Given the description of an element on the screen output the (x, y) to click on. 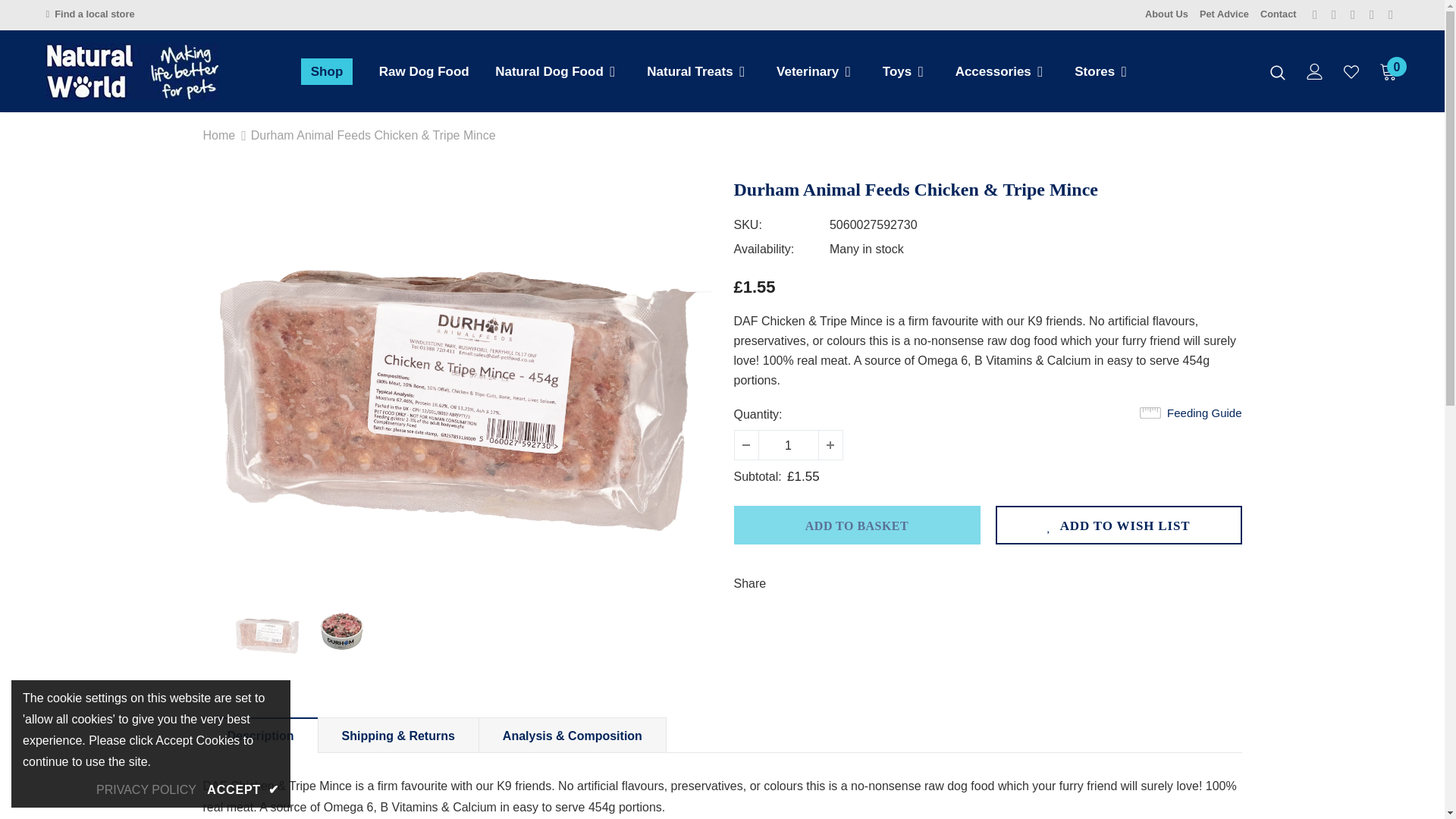
1 (787, 444)
Contact (1278, 13)
  Find a local store (89, 13)
Natural Treats (689, 75)
Veterinary (807, 75)
Add to Basket (856, 525)
About Us (1166, 13)
Natural Dog Food (549, 75)
Shop (327, 75)
My Wish Lists (1350, 71)
Raw Dog Food (423, 75)
User Icon (1314, 71)
Pet Advice (1224, 13)
Logo (134, 71)
Cart Icon (1387, 71)
